Given the description of an element on the screen output the (x, y) to click on. 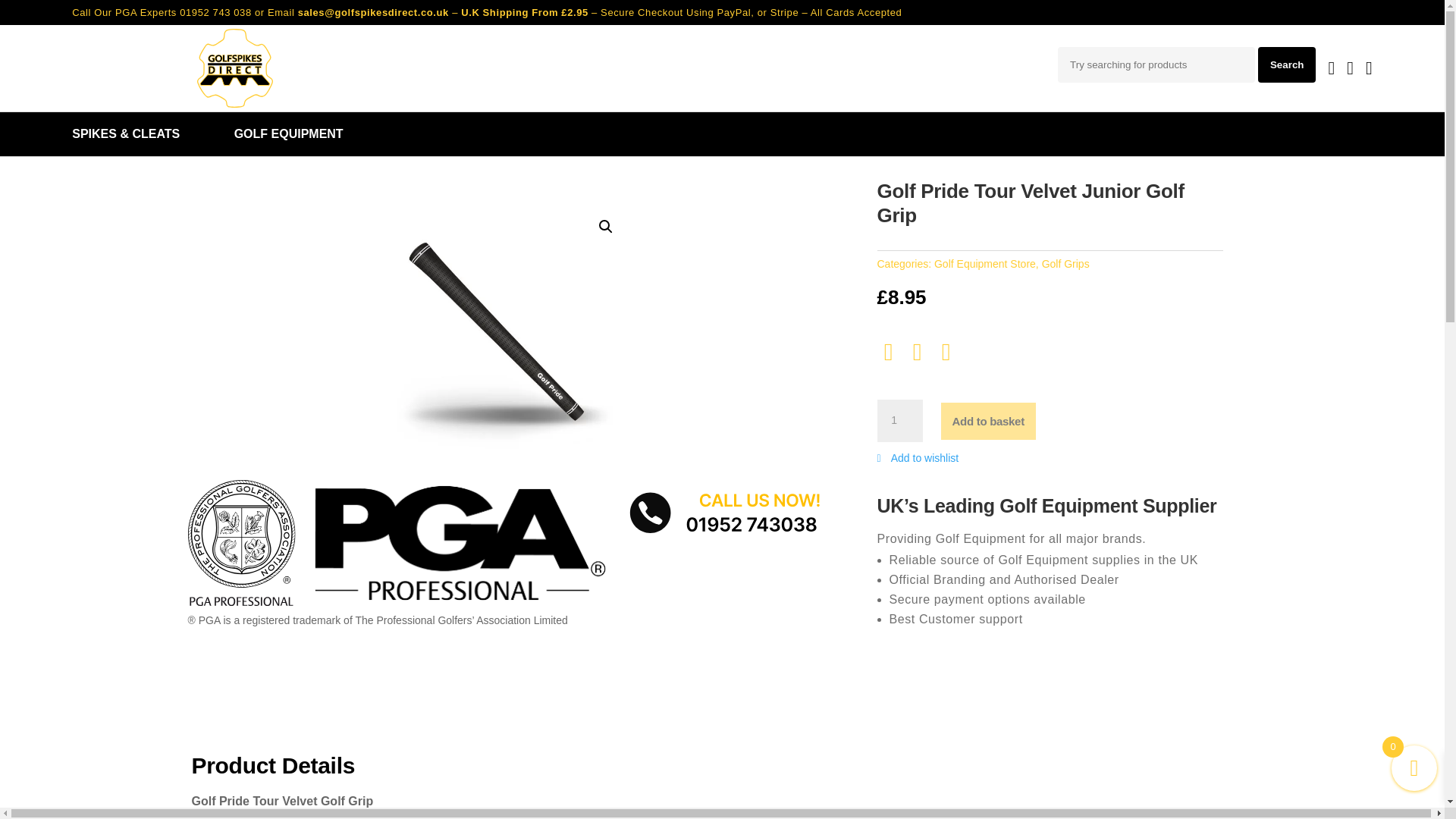
Search (1286, 64)
Frame 19 (398, 542)
GPTV (503, 328)
Search (1286, 64)
GOLF EQUIPMENT (301, 133)
Golf Spikes Direct Black (234, 67)
1 (898, 420)
